Given the description of an element on the screen output the (x, y) to click on. 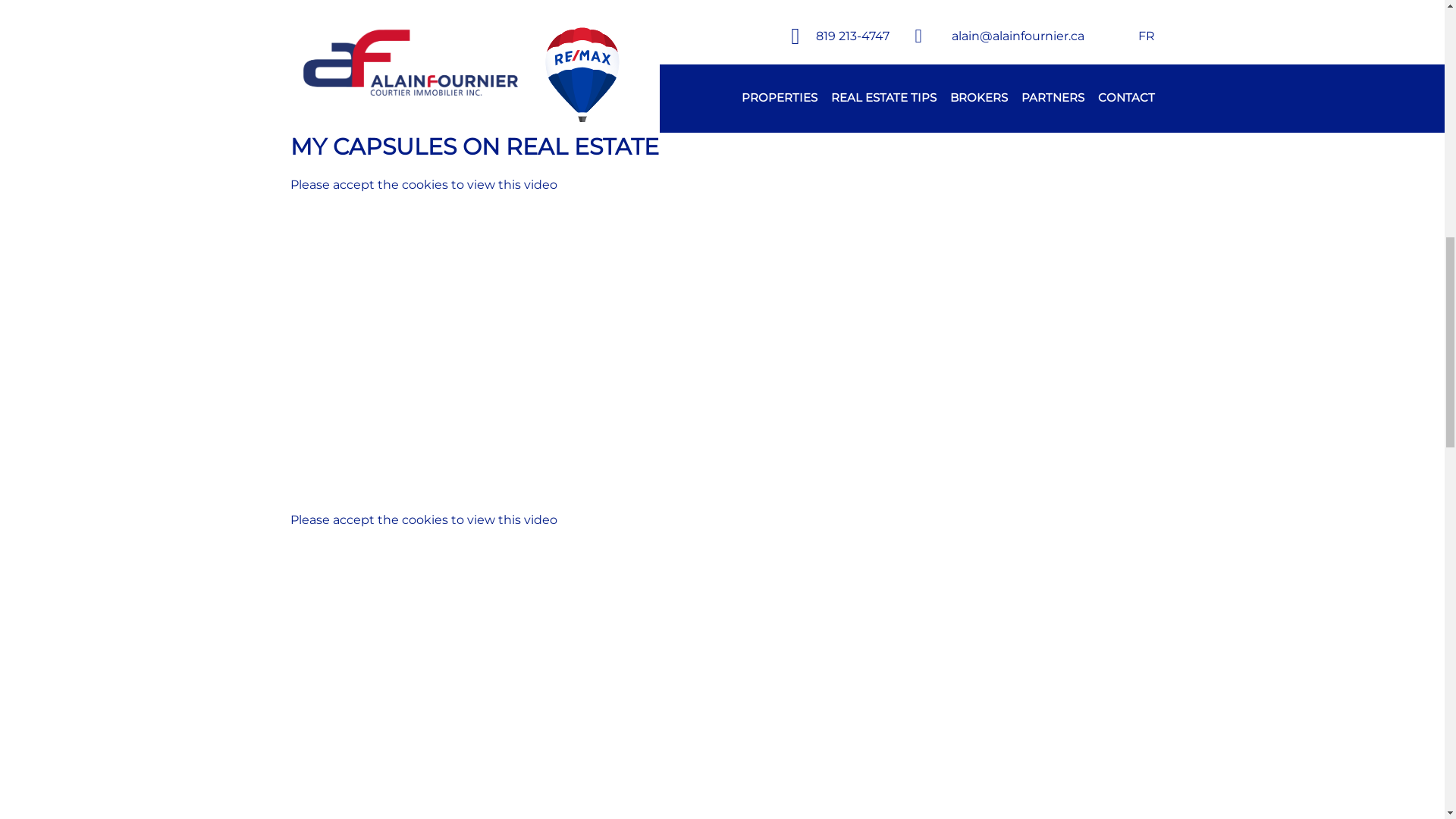
819 213-4747 Element type: text (544, 519)
Send Element type: text (1017, 756)
alain@alainfournier.ca Element type: text (574, 536)
